Given the description of an element on the screen output the (x, y) to click on. 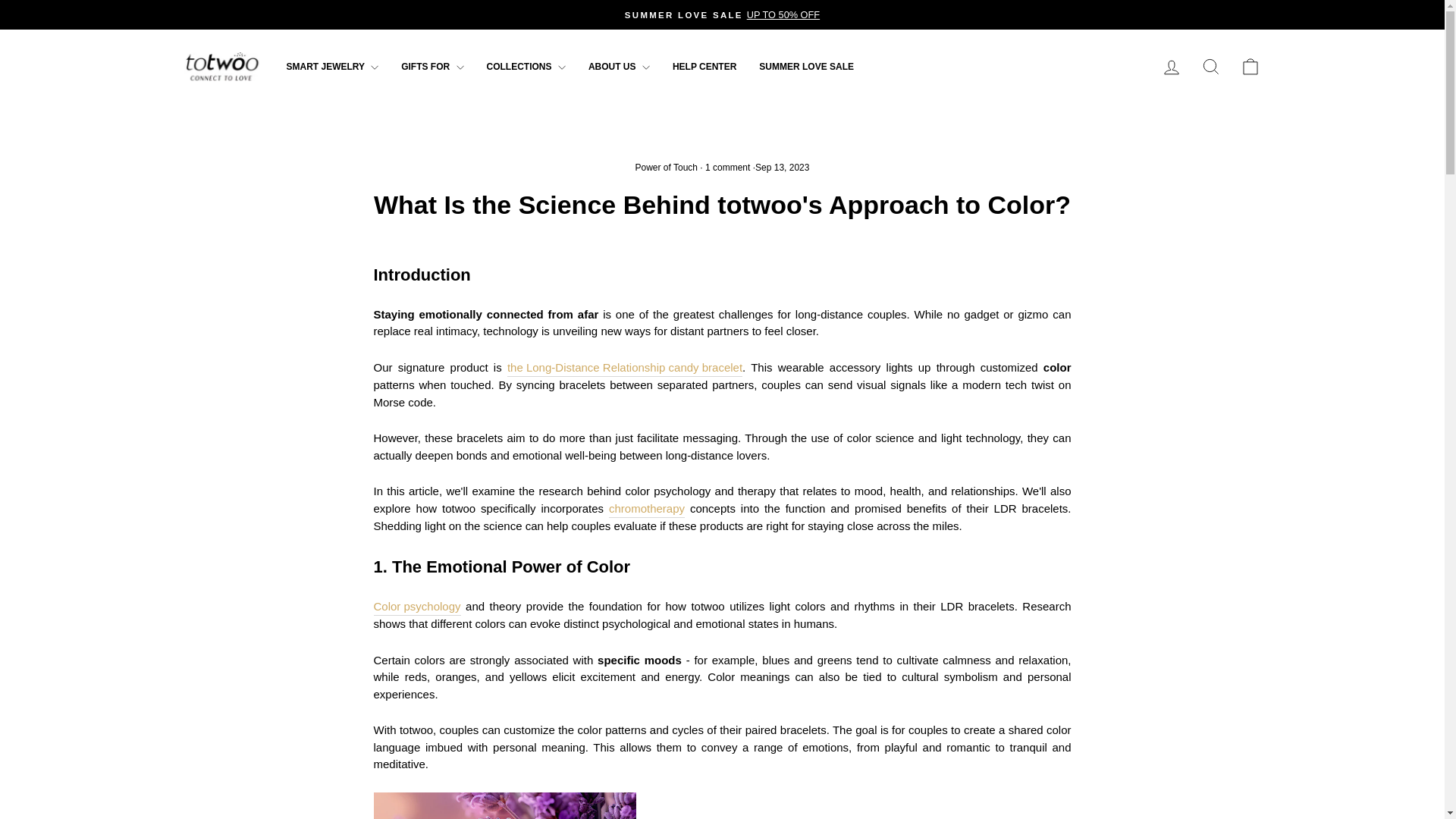
Color Therapy Types, Techniques, and Benefits (646, 509)
Long Distance Bracelets with color (648, 368)
ACCOUNT (1170, 66)
totwoo candy LD bracelets (721, 805)
The Graphic Designer's Guide to the Psychology of Color (416, 607)
ICON-BAG-MINIMAL (1249, 66)
ICON-SEARCH (1210, 66)
